Given the description of an element on the screen output the (x, y) to click on. 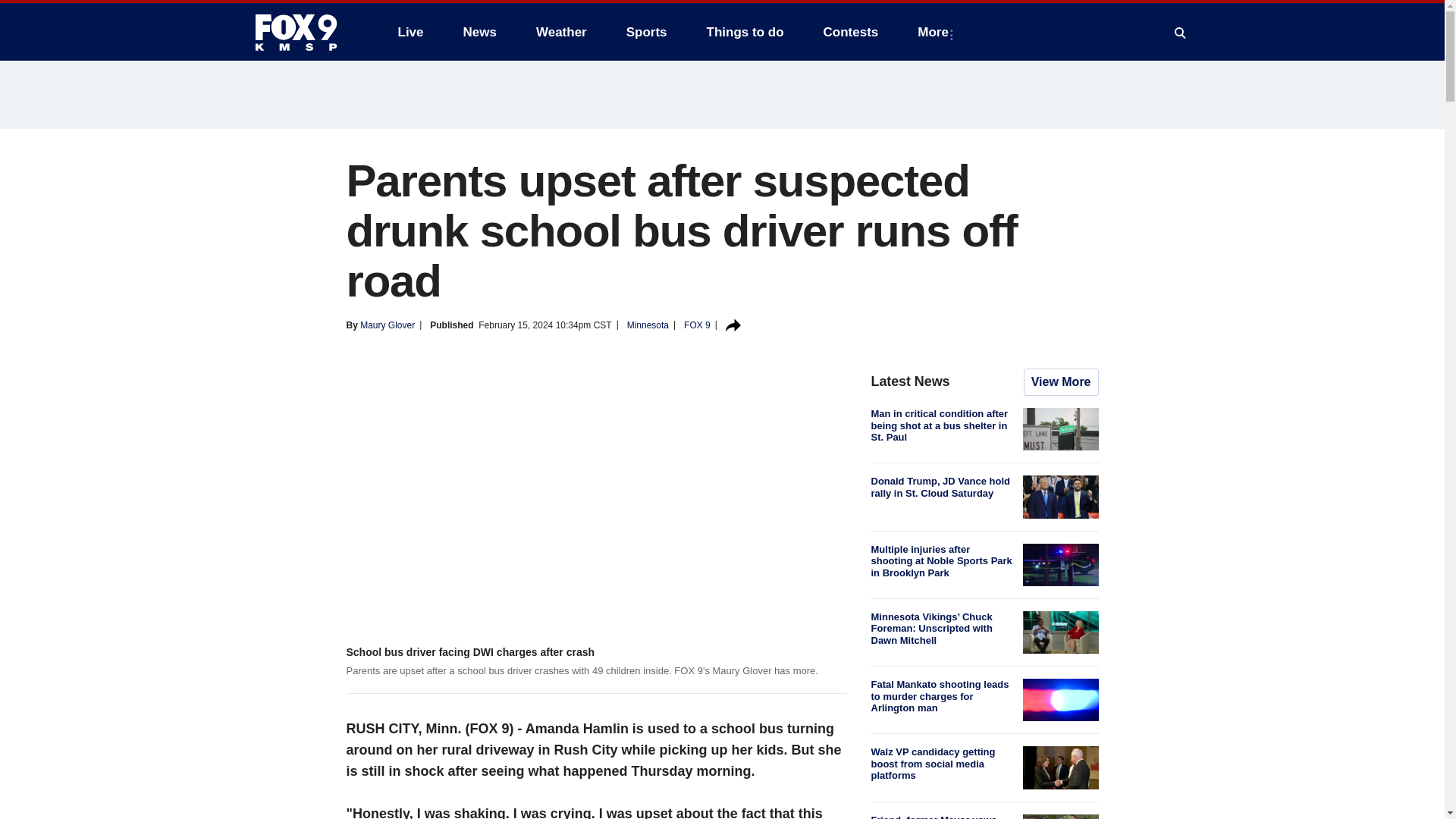
Contests (850, 32)
More (935, 32)
Live (410, 32)
Things to do (745, 32)
Sports (646, 32)
News (479, 32)
Weather (561, 32)
